Given the description of an element on the screen output the (x, y) to click on. 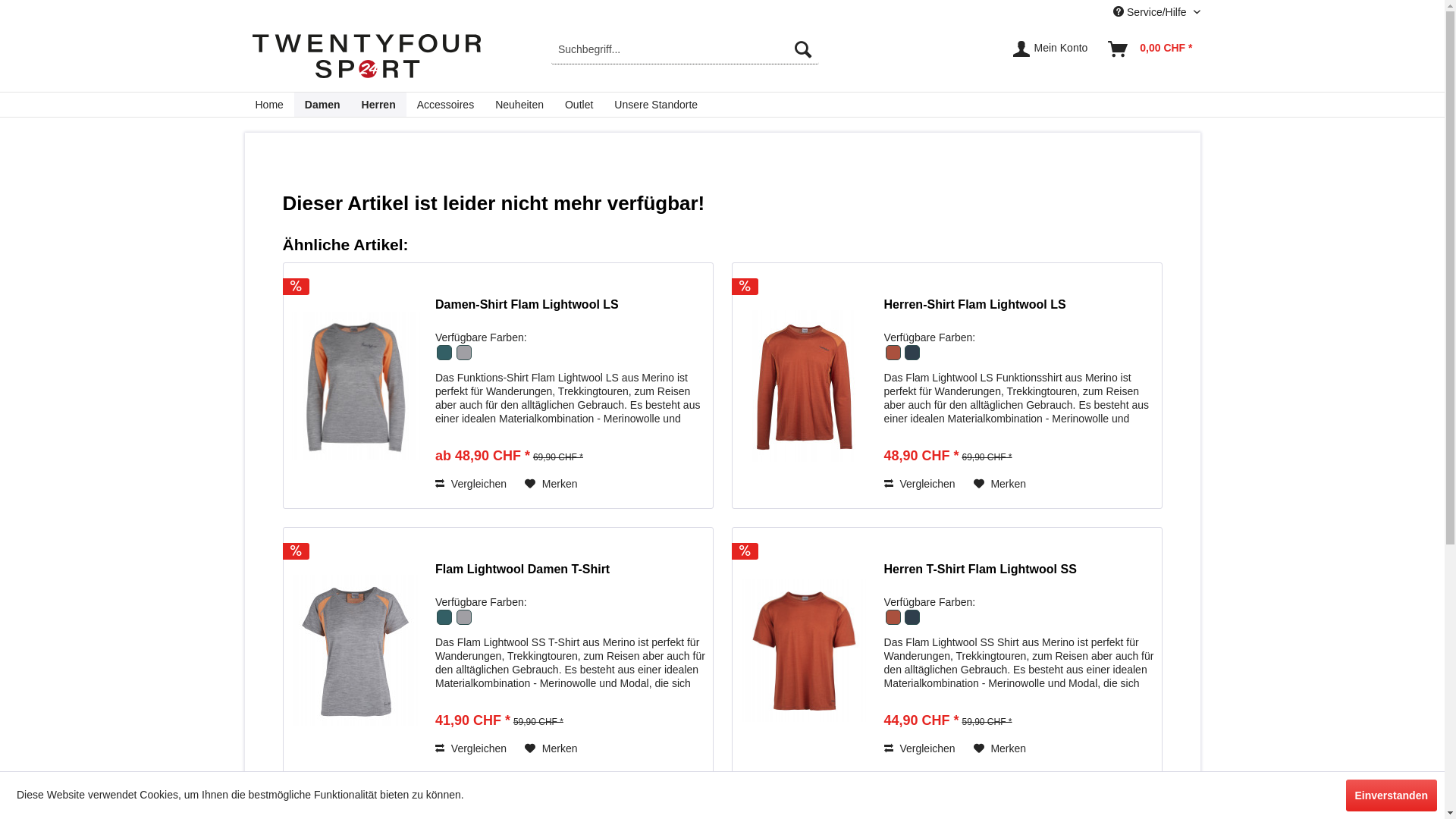
Herren T-Shirt Flam Lightwool SS Element type: text (1019, 576)
Merken Element type: text (550, 483)
Damen Element type: text (322, 104)
Damen-Shirt Flam Lightwool LS Element type: hover (355, 385)
Vergleichen Element type: text (470, 748)
Einverstanden Element type: text (1391, 795)
Damen-Shirt Flam Lightwool LS Element type: hover (355, 385)
Herren Element type: text (378, 104)
Inhalt Element type: hover (1019, 440)
0,00 CHF * Element type: text (1150, 49)
Merken Element type: text (550, 748)
Home Element type: text (268, 104)
Mein Konto Element type: text (1051, 49)
Herren-Shirt Flam Lightwool LS Element type: hover (804, 385)
Outlet Element type: text (578, 104)
Damen-Shirt Flam Lightwool LS Element type: text (570, 312)
Flam Lightwool Damen T-Shirt Element type: text (570, 576)
Inhalt Element type: hover (570, 440)
Flam Lightwool Damen T-Shirt Element type: hover (354, 650)
Dunkel Orange 08 Element type: hover (893, 622)
Hellgrau Melange 09 Element type: hover (463, 357)
Flam Lightwool Damen T-Shirt Element type: hover (355, 649)
Inhalt Element type: hover (570, 704)
Neuheiten Element type: text (519, 104)
Herren-Shirt Flam Lightwool LS Element type: hover (804, 385)
Unsere Standorte Element type: text (655, 104)
Merken Element type: text (999, 483)
Inhalt Element type: hover (1019, 704)
Denim Blau 02 Element type: hover (911, 357)
Herren-Shirt Flam Lightwool LS Element type: text (1019, 312)
Accessoires Element type: text (445, 104)
Denim Blau 02 Element type: hover (911, 622)
Vergleichen Element type: text (470, 483)
Dunkel Orange 08 Element type: hover (893, 357)
Vergleichen Element type: text (919, 748)
24sport.ch - zur Startseite wechseln Element type: hover (365, 59)
Hellgrau Melange 09 Element type: hover (463, 622)
Merken Element type: text (999, 748)
Herren T-Shirt Flam Lightwool SS Element type: hover (804, 650)
Herren T-Shirt Flam Lightwool SS Element type: hover (804, 649)
Vergleichen Element type: text (919, 483)
